Given the description of an element on the screen output the (x, y) to click on. 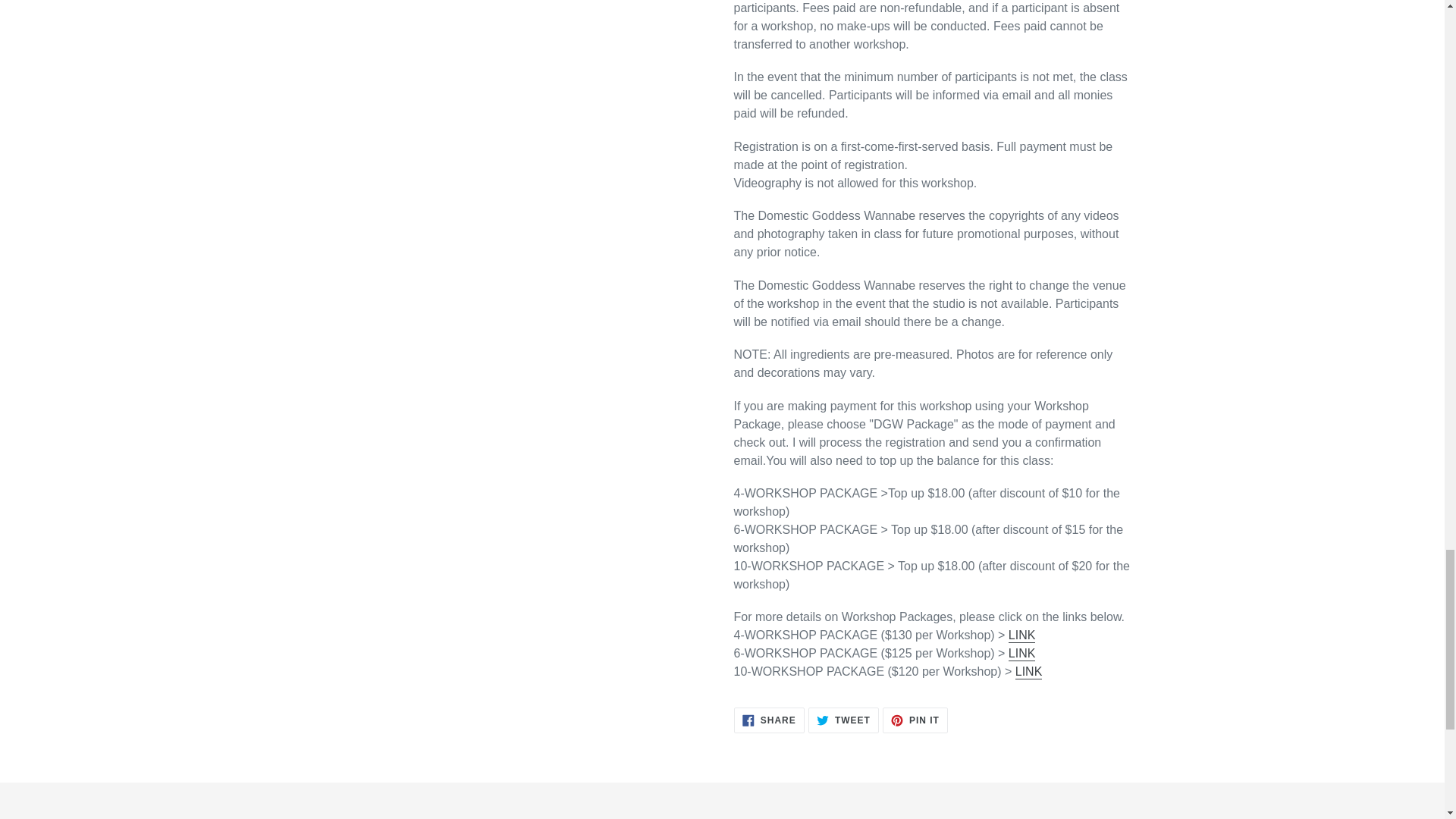
LINK (1028, 672)
LINK (1022, 635)
LINK (1022, 653)
